Given the description of an element on the screen output the (x, y) to click on. 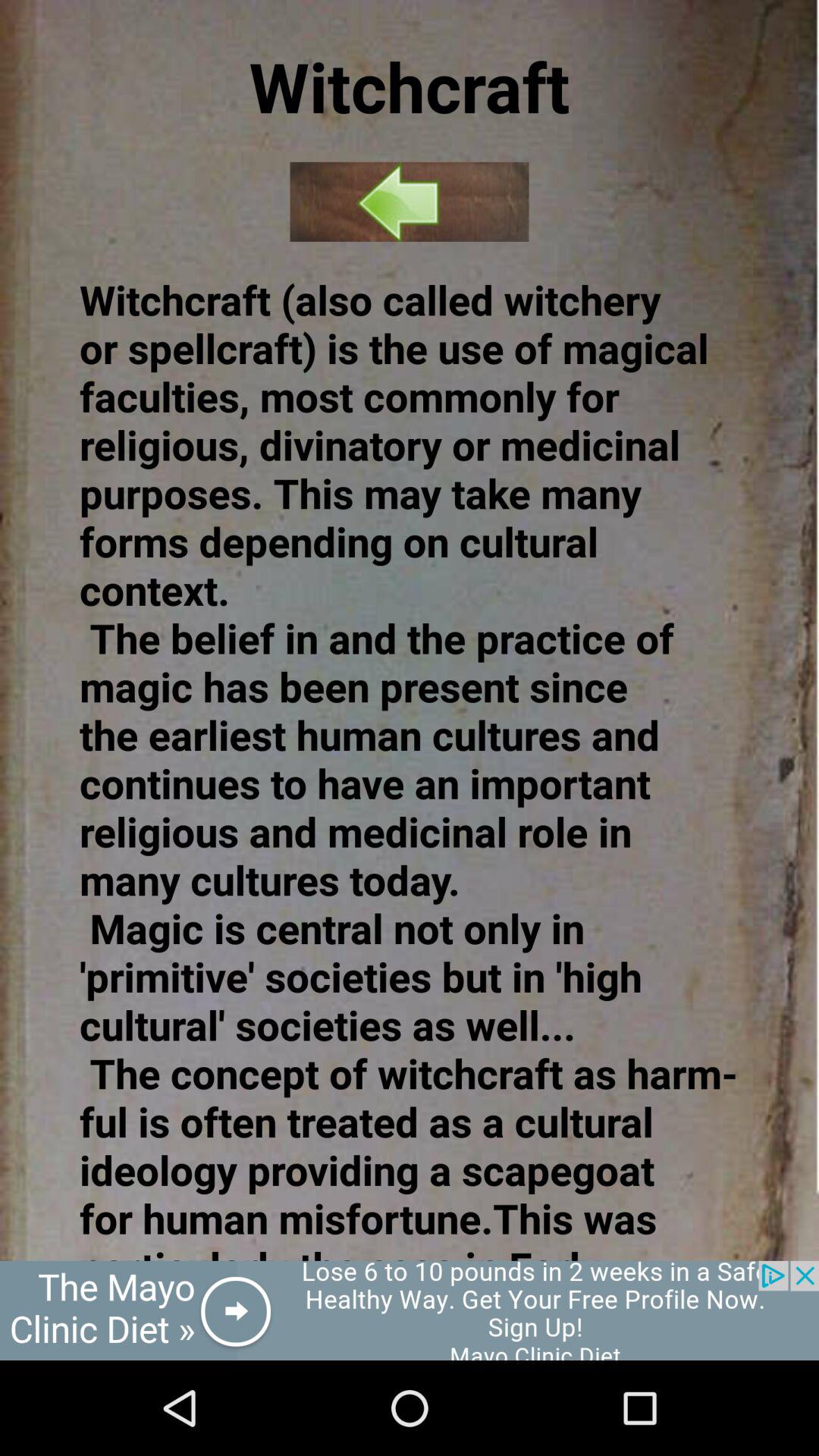
open advertisement (409, 1310)
